Given the description of an element on the screen output the (x, y) to click on. 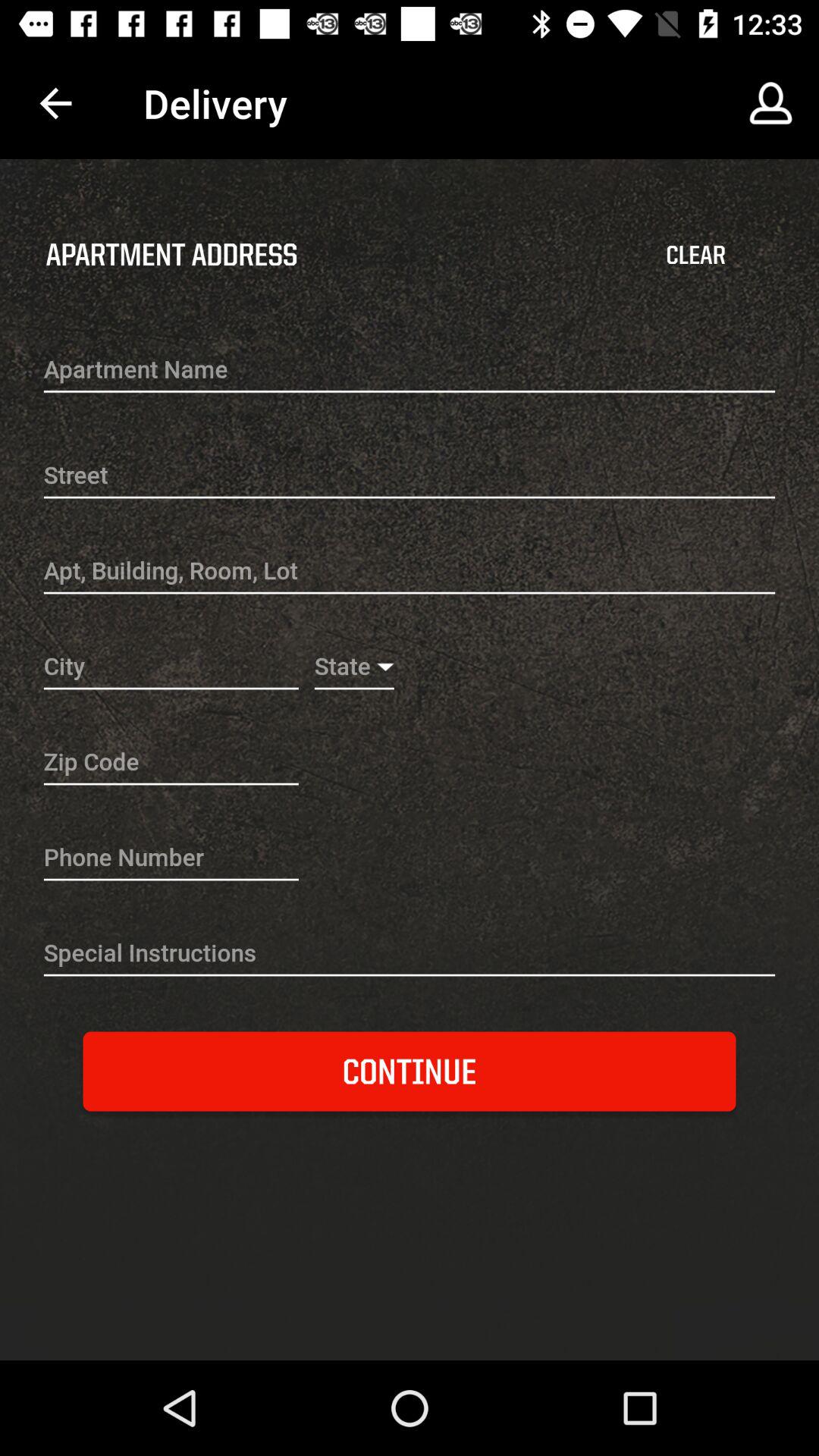
click the item next to apartment address icon (695, 254)
